Given the description of an element on the screen output the (x, y) to click on. 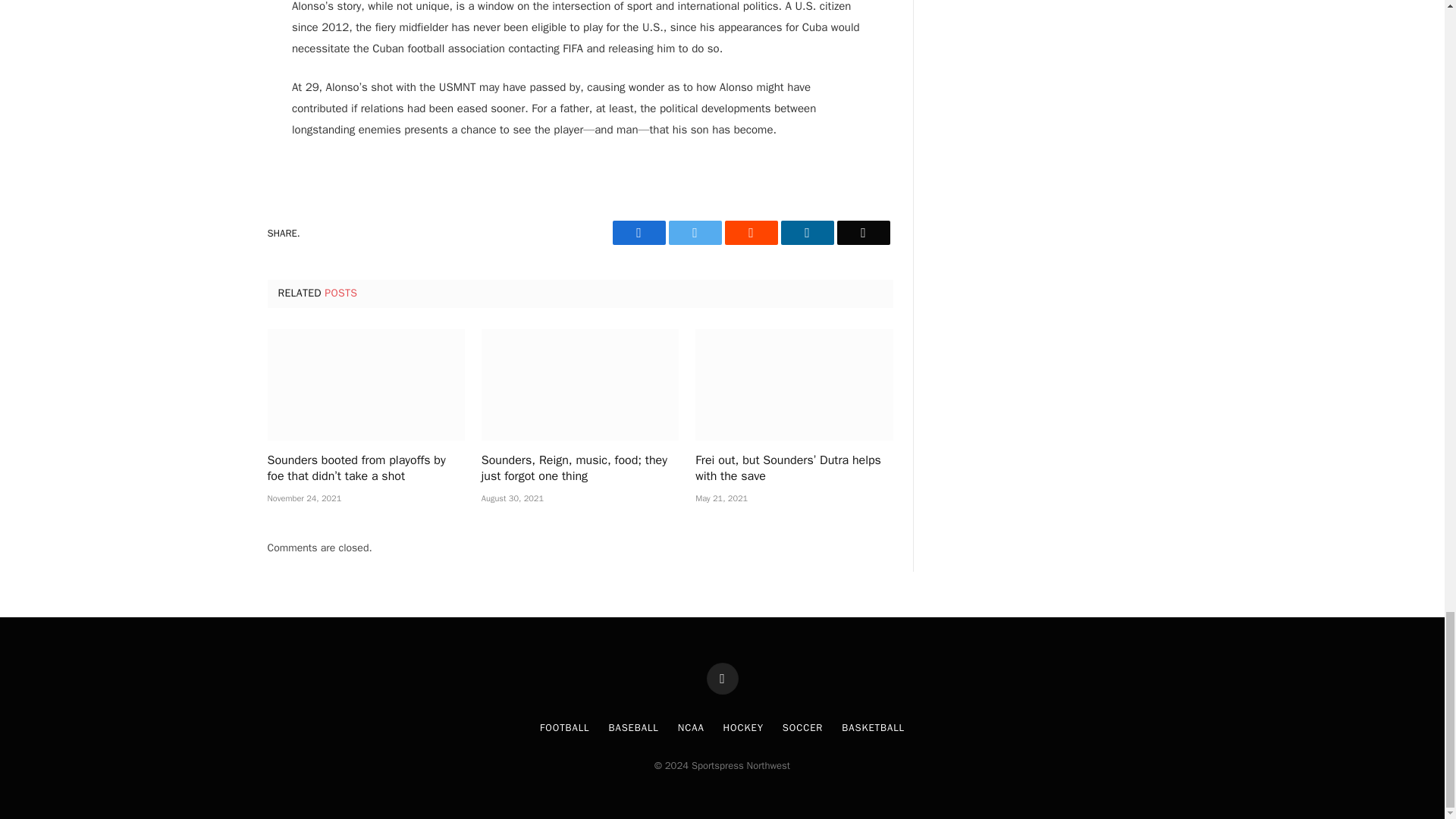
Facebook (638, 232)
LinkedIn (807, 232)
Reddit (751, 232)
Twitter (695, 232)
